Given the description of an element on the screen output the (x, y) to click on. 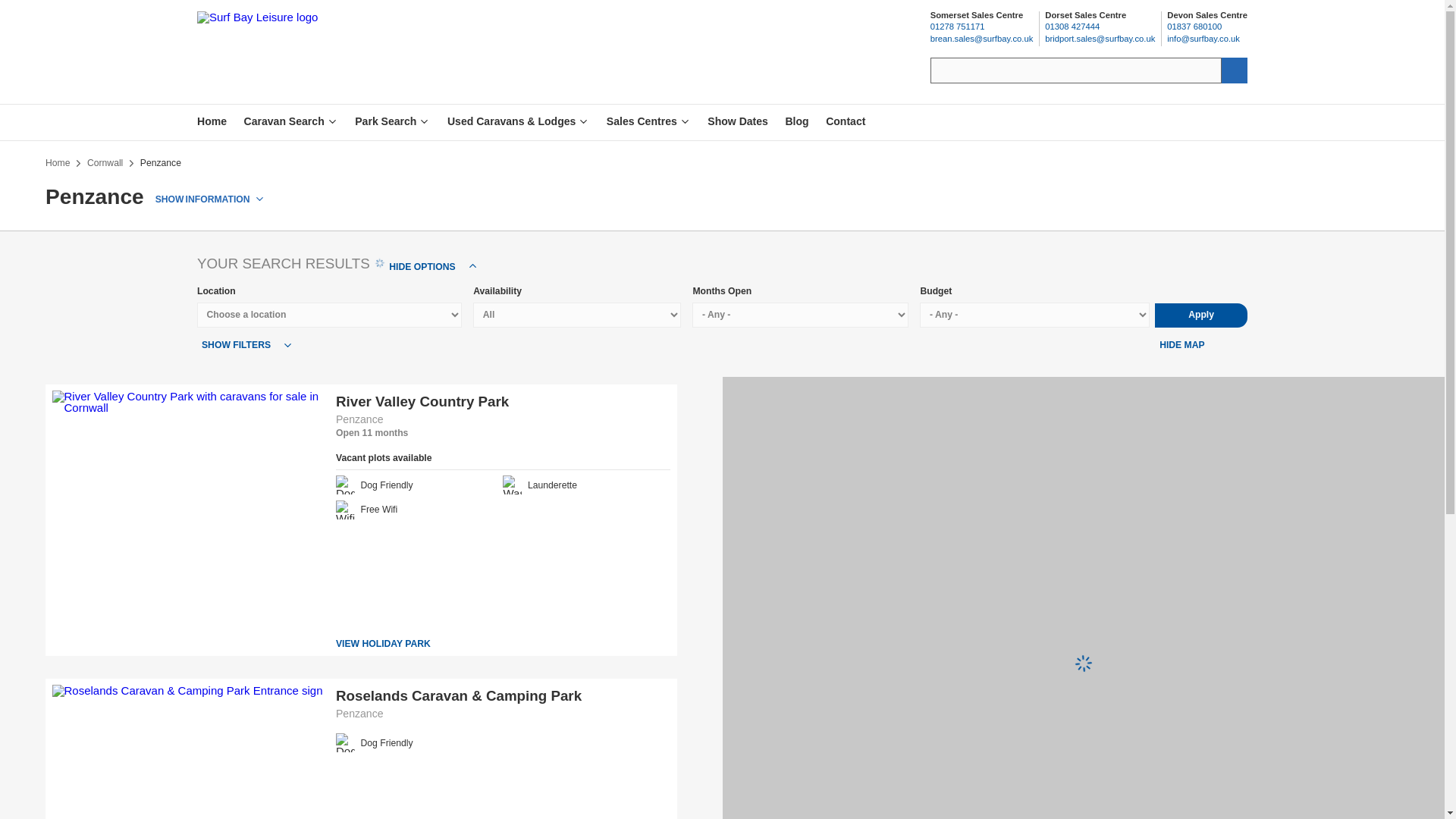
01278 751171 (981, 26)
Enter the terms you wish to search for. (1075, 70)
Show Dates (737, 120)
Contact (844, 120)
Home (432, 266)
01308 427444 (213, 120)
Blog (1099, 26)
Park Search (797, 120)
Home (392, 121)
Apply (57, 162)
Home (1200, 315)
Caravan Search (213, 120)
Search (290, 121)
